Given the description of an element on the screen output the (x, y) to click on. 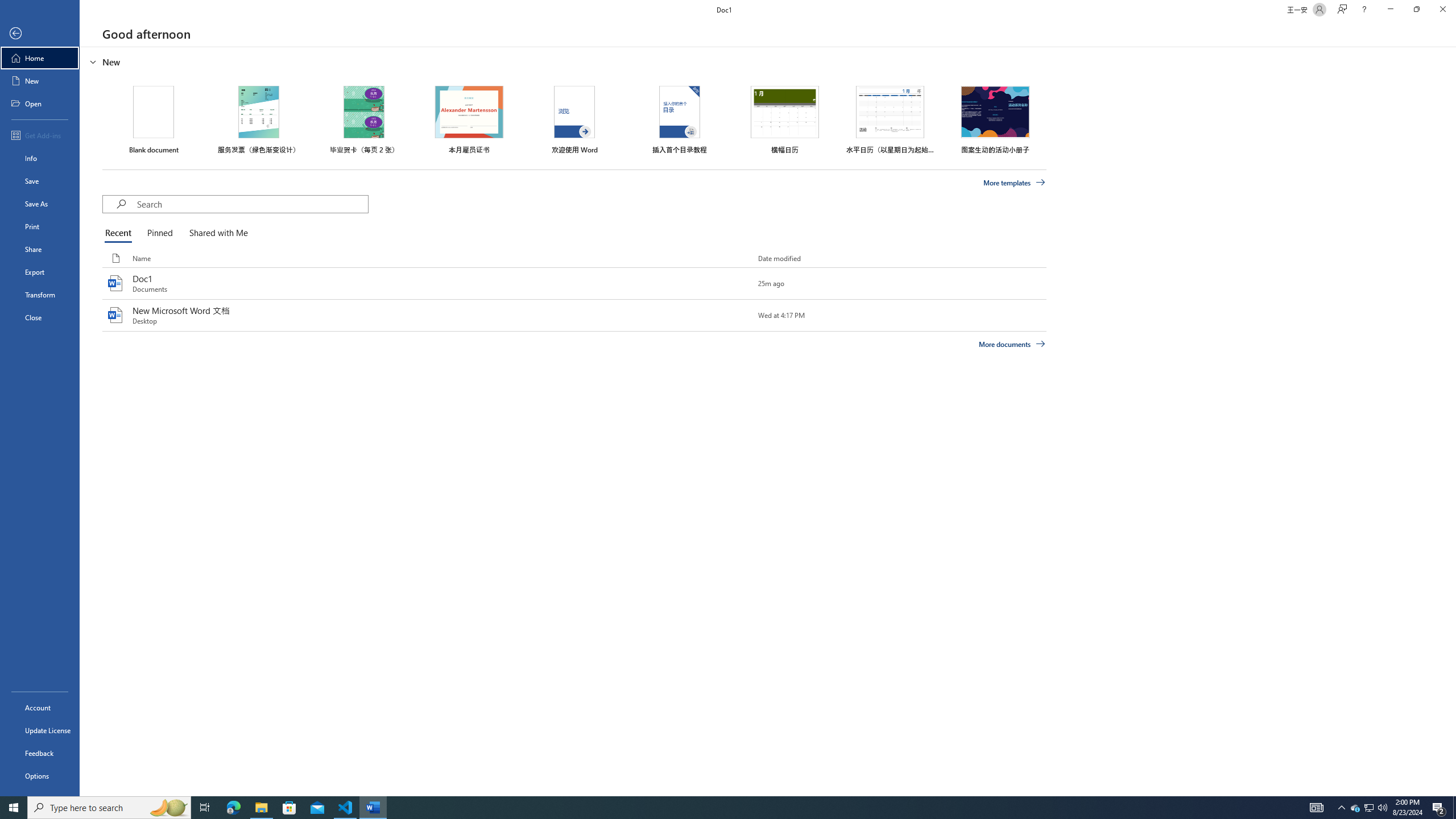
Home (40, 57)
System (6, 6)
New (40, 80)
Options (40, 775)
Open (40, 102)
Blank document (153, 119)
Print (40, 225)
Class: NetUIScrollBar (1450, 421)
Hide or show region (92, 61)
System (6, 6)
